Given the description of an element on the screen output the (x, y) to click on. 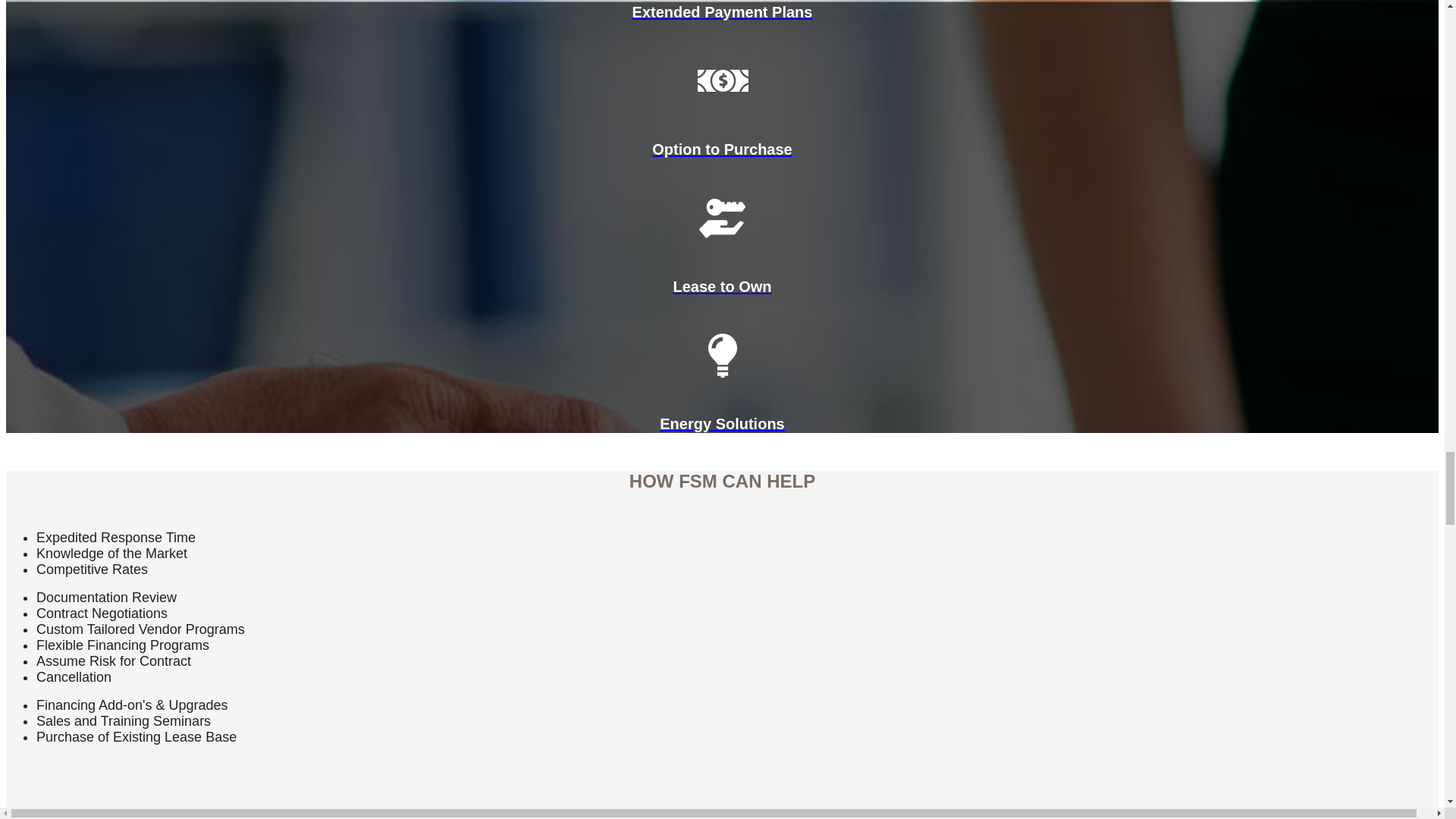
Extended Payment Plans (721, 10)
